Given the description of an element on the screen output the (x, y) to click on. 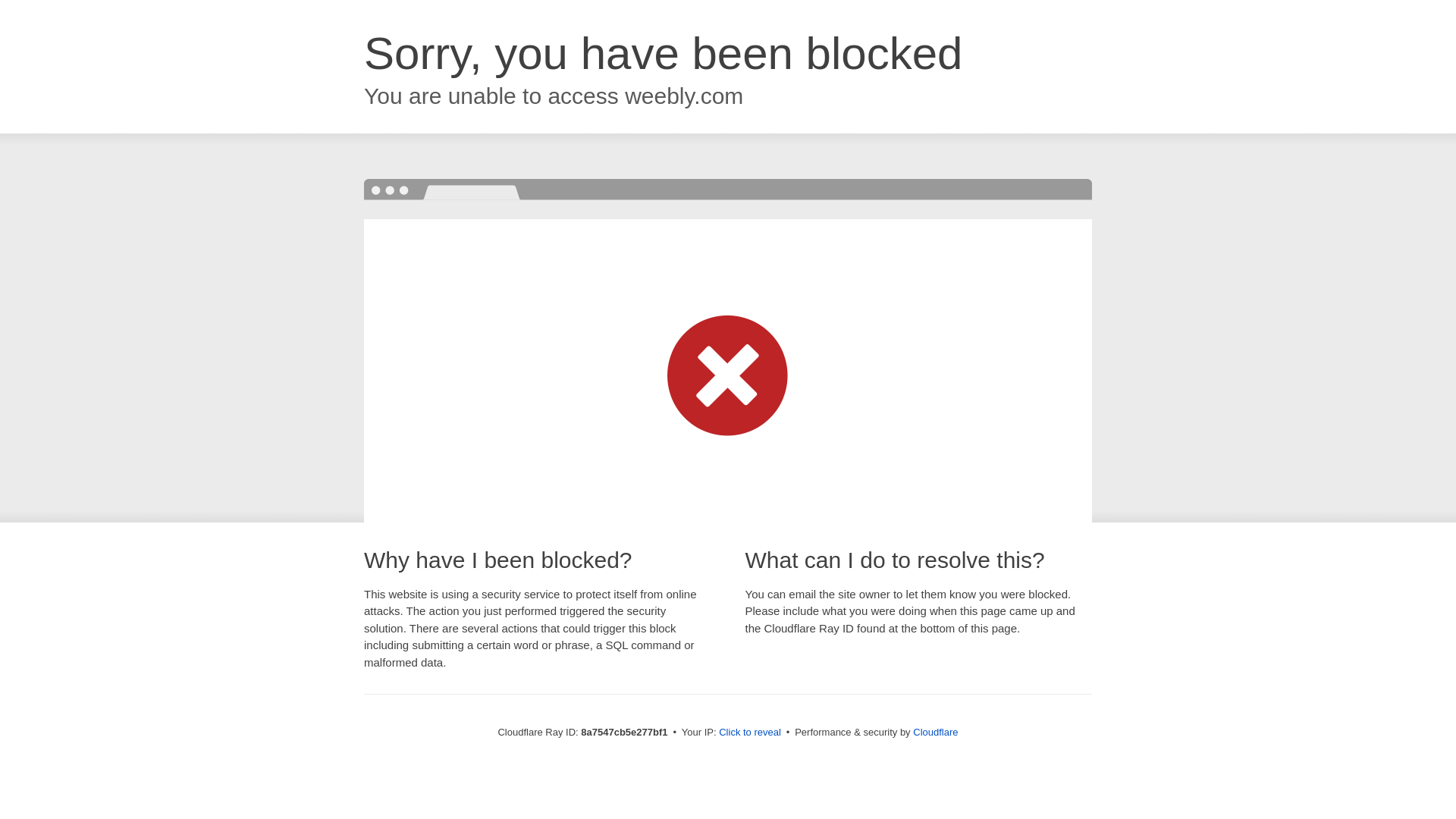
Cloudflare (935, 731)
Click to reveal (749, 732)
